Given the description of an element on the screen output the (x, y) to click on. 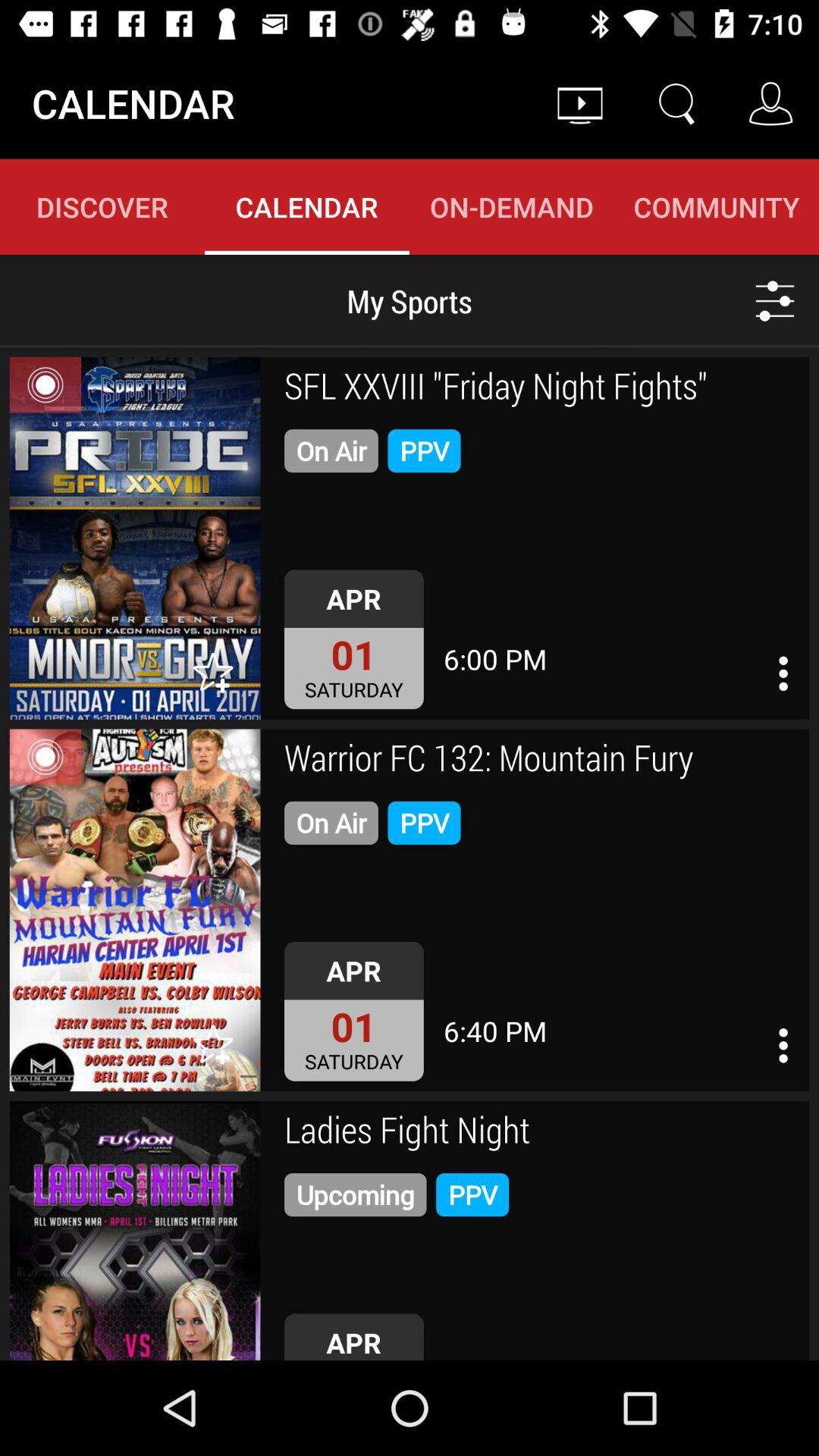
select show (134, 910)
